Given the description of an element on the screen output the (x, y) to click on. 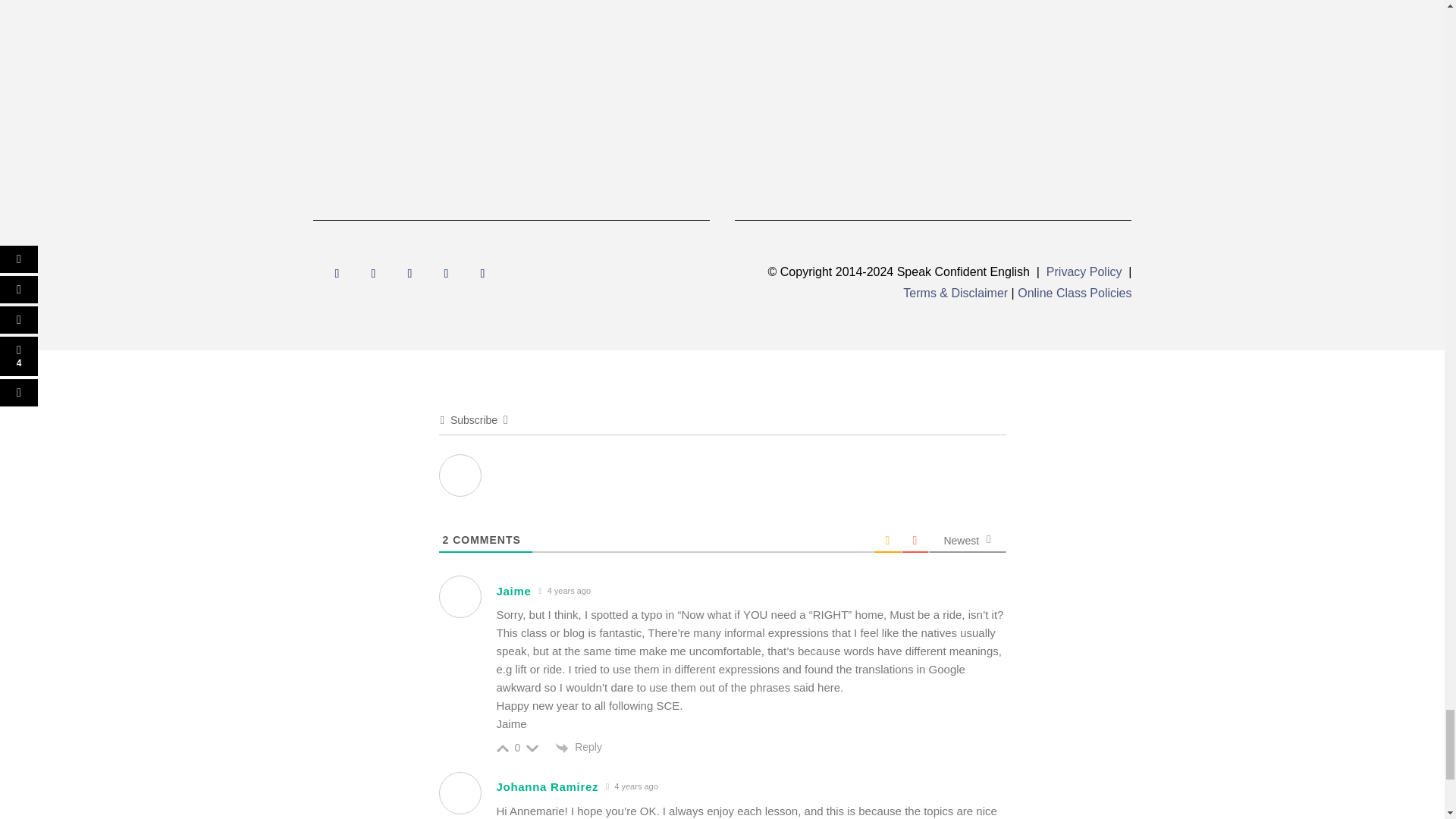
Follow on Instagram (409, 273)
Follow on Pinterest (482, 273)
Follow on Youtube (373, 273)
Online Class Policies (1074, 292)
Follow on Facebook (336, 273)
Follow on LinkedIn (445, 273)
Privacy Policy (1084, 271)
